Given the description of an element on the screen output the (x, y) to click on. 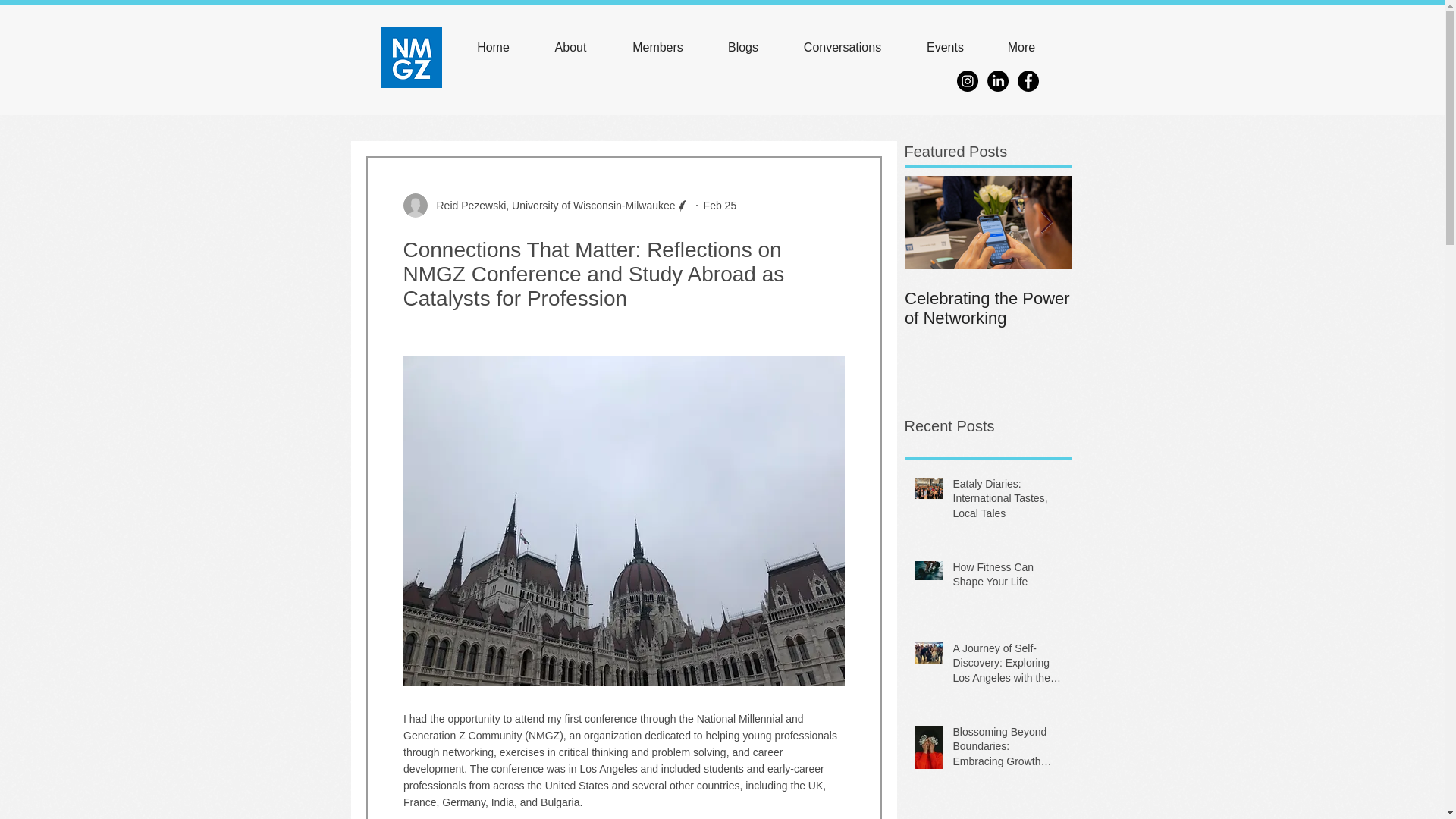
About (571, 47)
How Fitness Can Shape Your Life (1006, 578)
The Impact of Action and DEI Initiatives (1153, 308)
Reid Pezewski, University of Wisconsin-Milwaukee (551, 204)
Members (658, 47)
Eataly Diaries: International Tastes, Local Tales (1006, 501)
Feb 25 (719, 204)
Conversations (841, 47)
Home (493, 47)
Blogs (743, 47)
Celebrating the Power of Networking (987, 308)
